Given the description of an element on the screen output the (x, y) to click on. 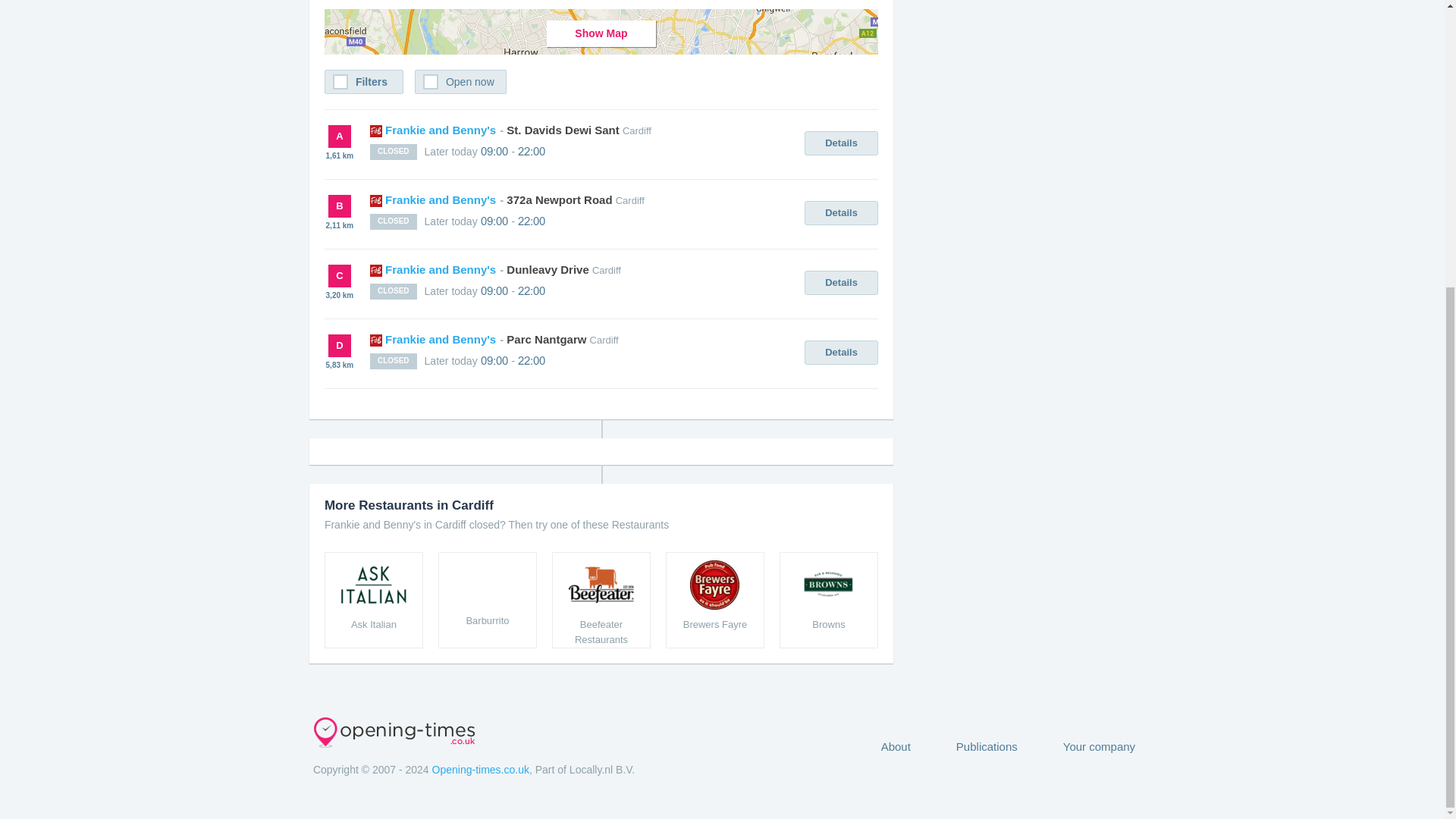
Details (841, 282)
Frankie and Benny's- St. Davids Dewi Sant Cardiff (509, 129)
Details (841, 143)
Brewers Fayre (714, 600)
Details (841, 352)
Barburrito (487, 600)
Frankie and Benny's- 372a Newport Road Cardiff (507, 199)
Browns (827, 600)
Frankie and Benny's- Parc Nantgarw Cardiff (493, 338)
Beefeater Restaurants (600, 600)
